Given the description of an element on the screen output the (x, y) to click on. 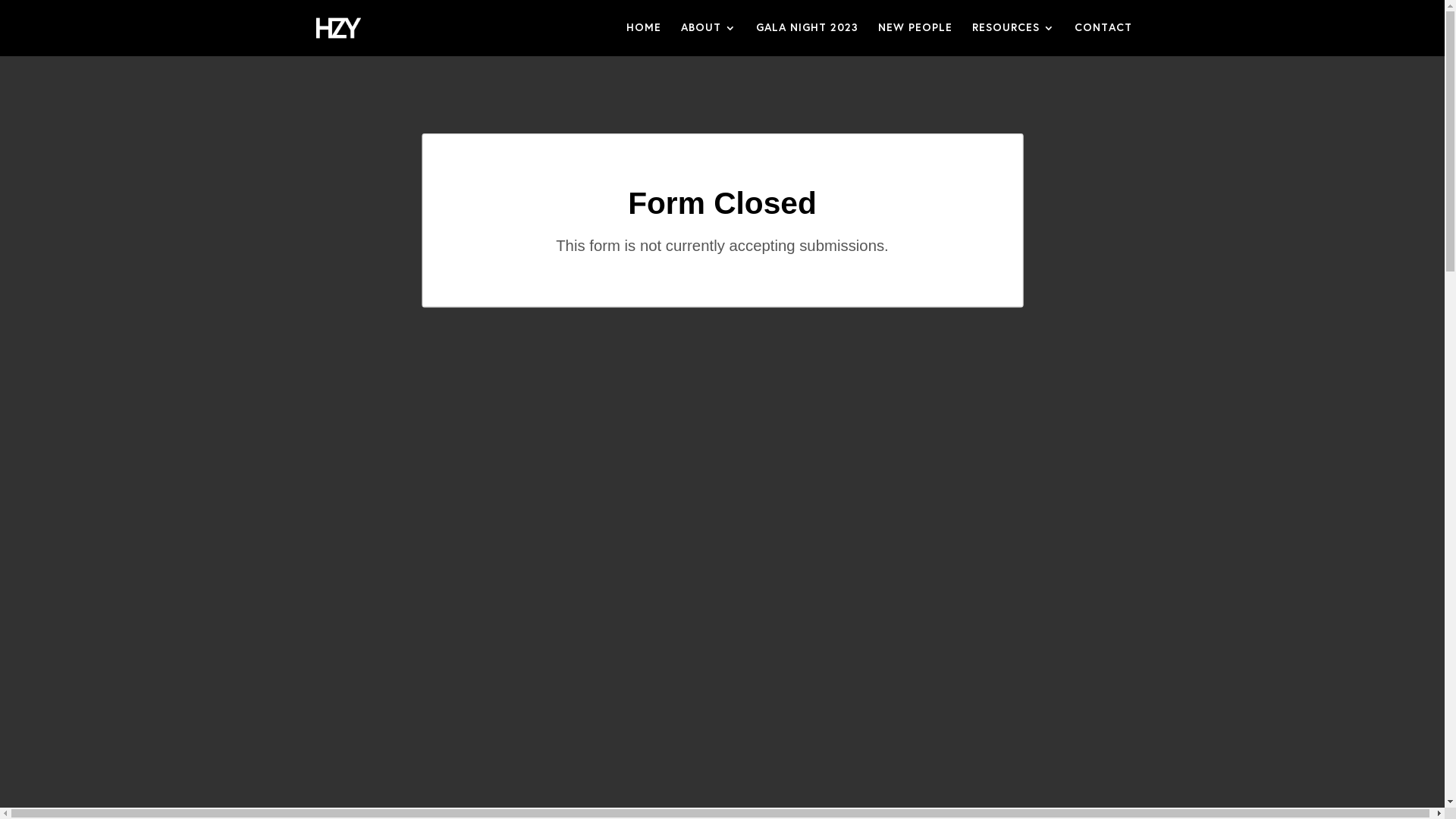
RESOURCES Element type: text (1013, 39)
CONTACT Element type: text (1102, 39)
GALA NIGHT 2023 Element type: text (806, 39)
HOME Element type: text (643, 39)
NEW PEOPLE Element type: text (915, 39)
ABOUT Element type: text (708, 39)
